Given the description of an element on the screen output the (x, y) to click on. 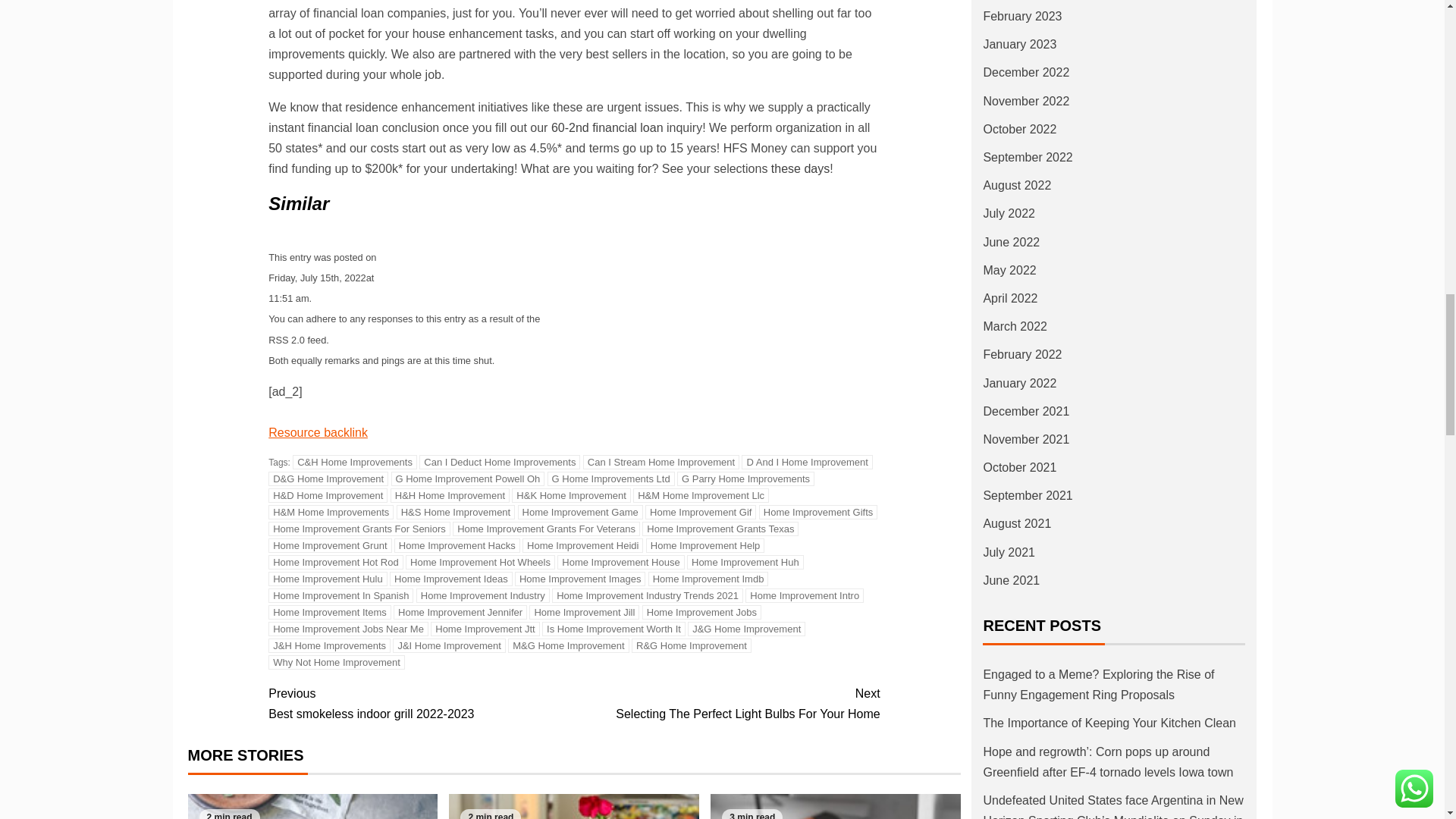
60-2nd financial loan (604, 127)
Begin Your Kitchen Remodel With Cabinet Hardware (835, 806)
The Importance of Keeping Your Kitchen Clean (312, 806)
